Given the description of an element on the screen output the (x, y) to click on. 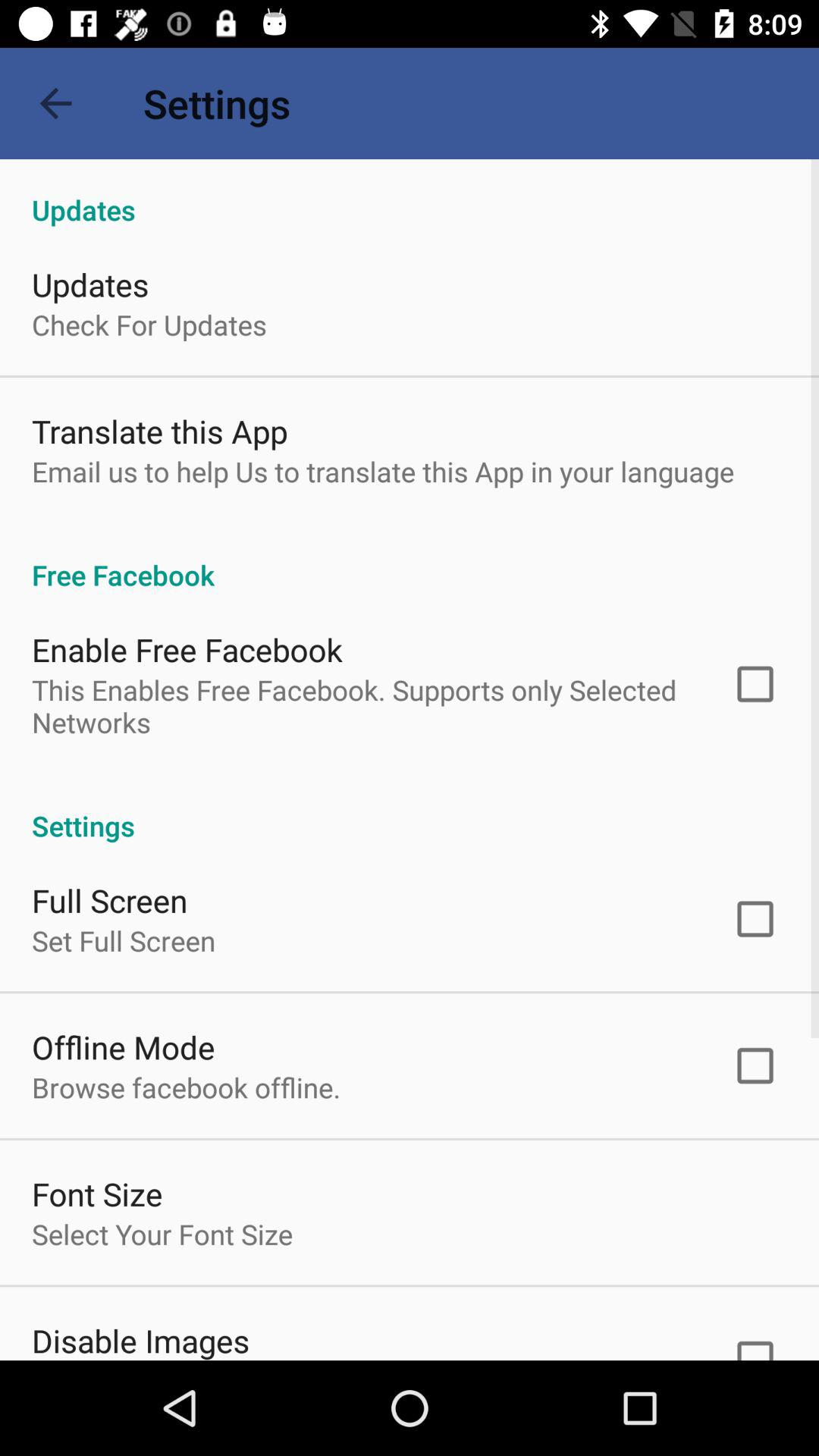
launch disable images icon (140, 1339)
